Given the description of an element on the screen output the (x, y) to click on. 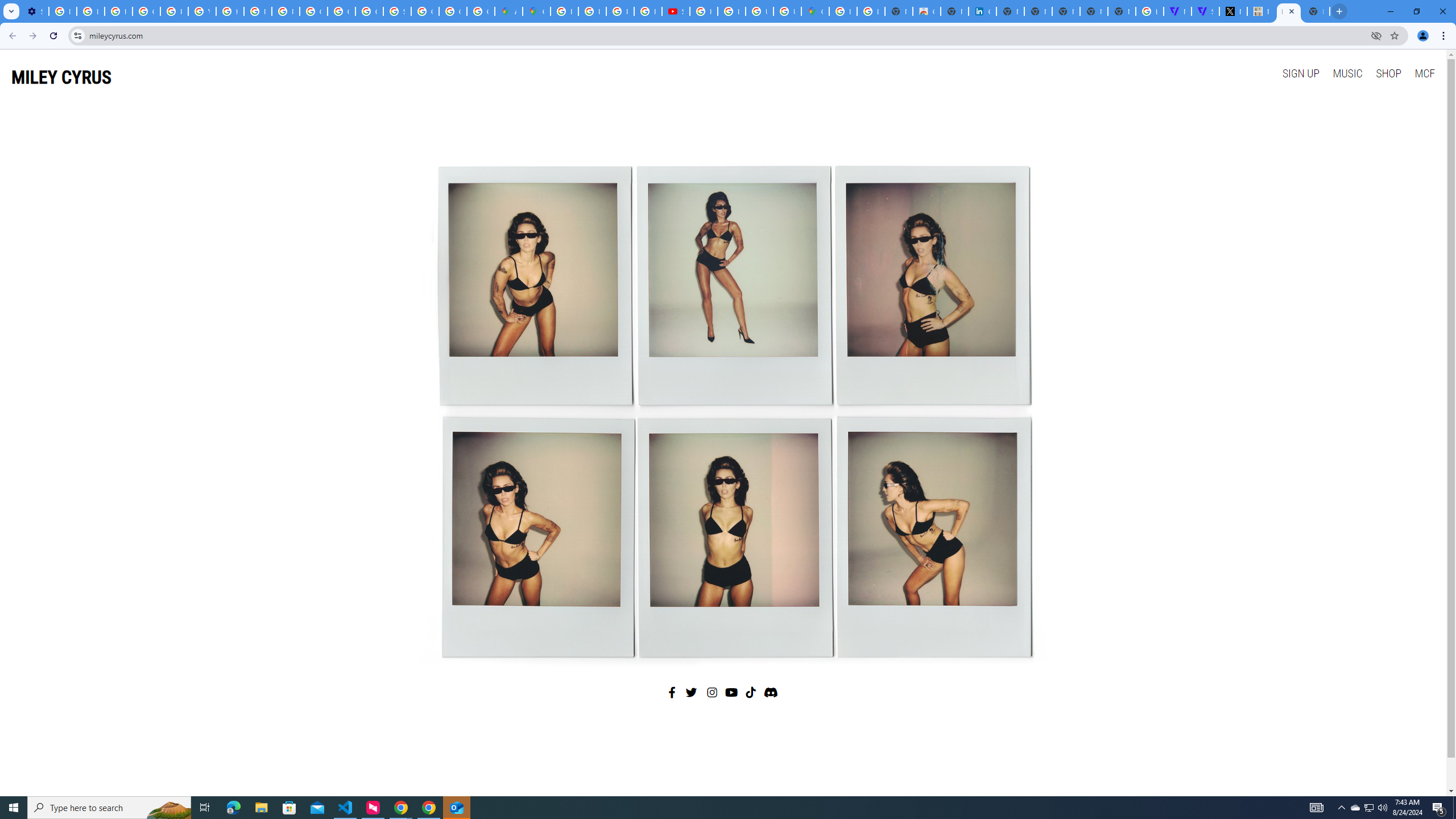
Sign in - Google Accounts (397, 11)
Cookie Policy | LinkedIn (982, 11)
Subscriptions - YouTube (675, 11)
MILEY CYRUS (61, 77)
Facebook (671, 692)
Delete photos & videos - Computer - Google Photos Help (62, 11)
